Given the description of an element on the screen output the (x, y) to click on. 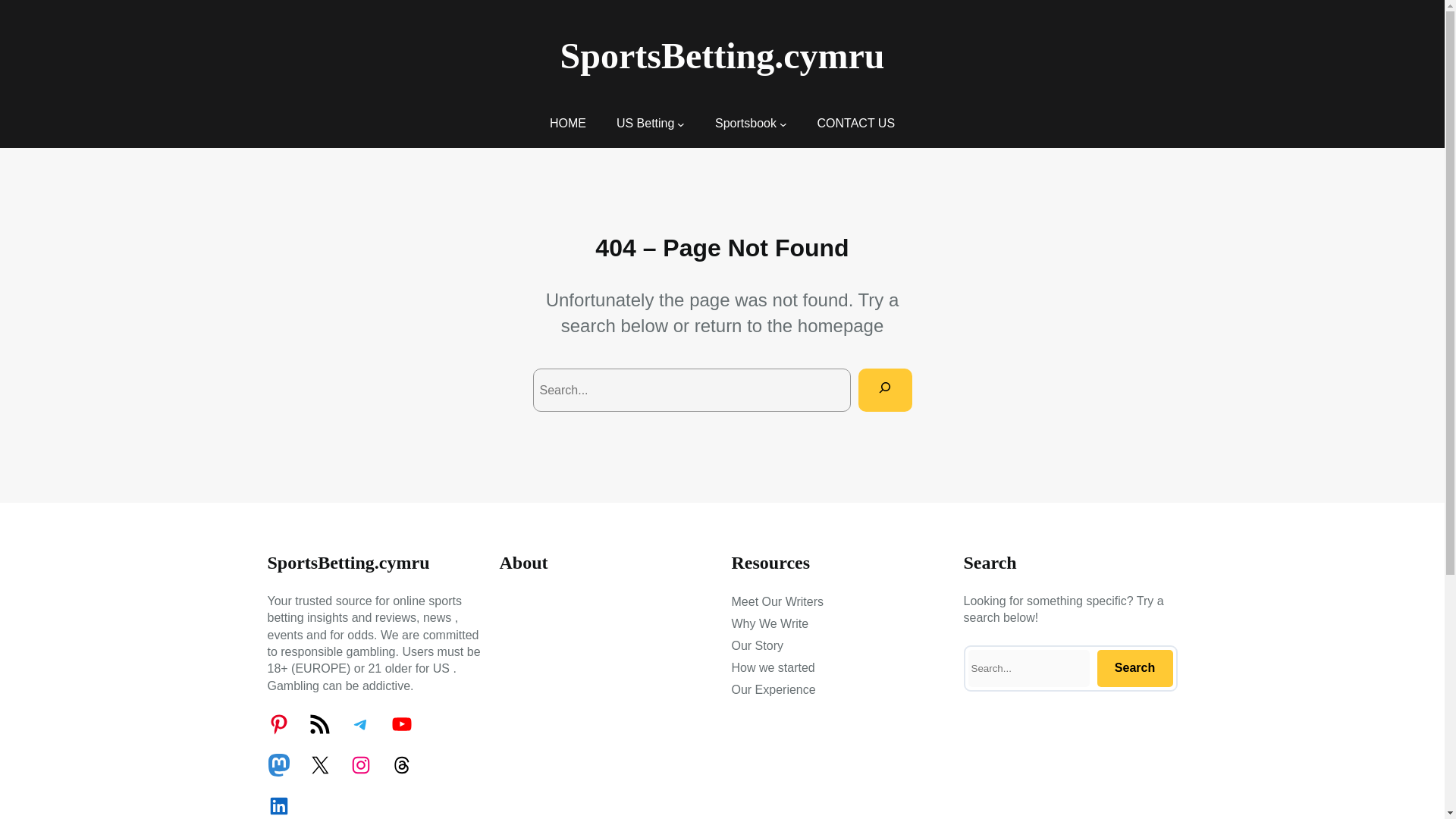
Our Experience (772, 689)
US Betting (644, 123)
HOME (568, 123)
LinkedIn (277, 805)
SportsBetting.cymru (722, 56)
YouTube (401, 723)
homepage (840, 325)
CONTACT US (855, 123)
Sportsbook (745, 123)
Pinterest (277, 723)
Instagram (360, 764)
Threads (401, 764)
Telegram (360, 723)
Our Story (756, 646)
Why We Write (769, 624)
